Given the description of an element on the screen output the (x, y) to click on. 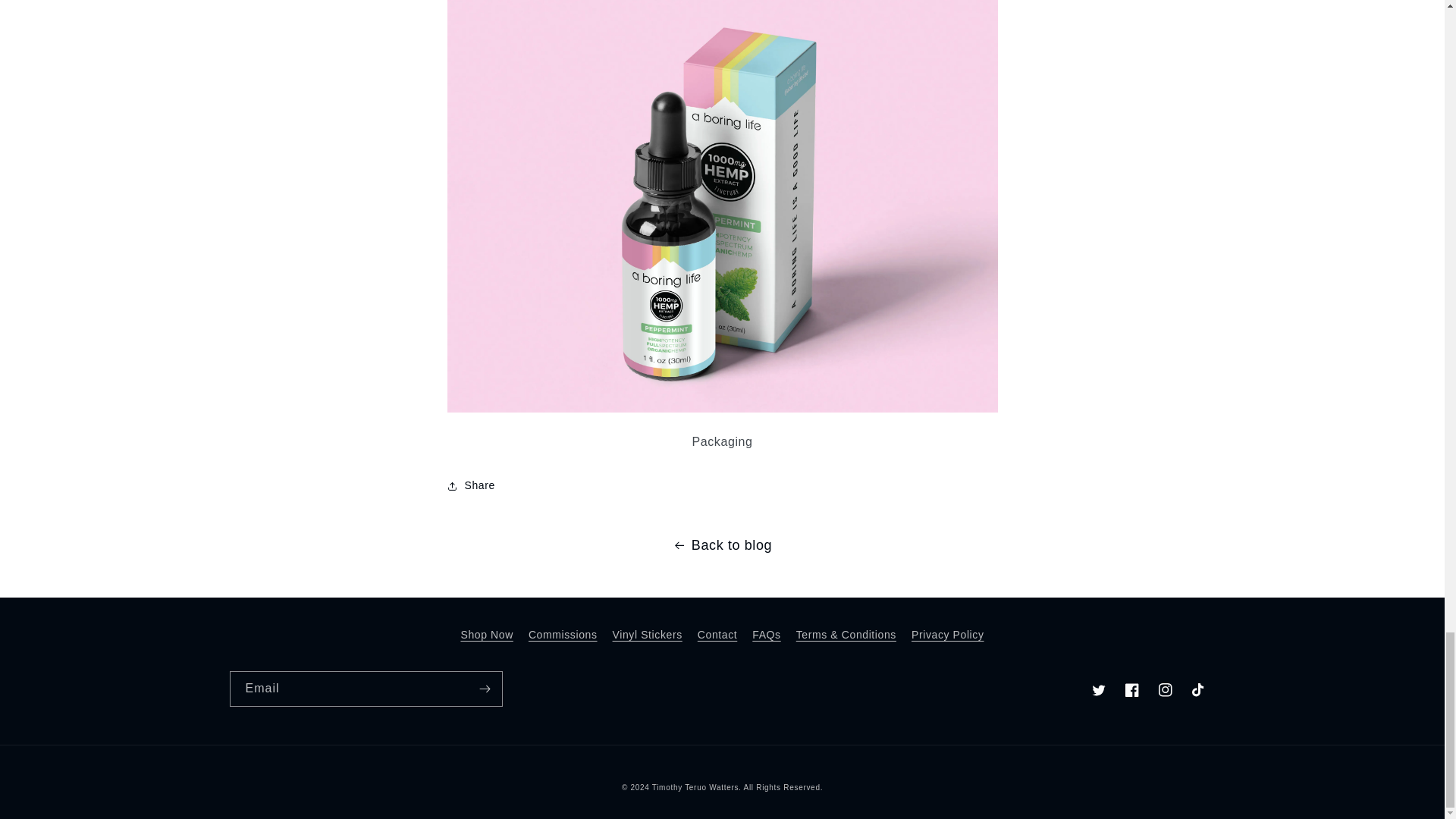
Vinyl Stickers (647, 634)
Commissions (562, 634)
Shop Now (486, 636)
